Given the description of an element on the screen output the (x, y) to click on. 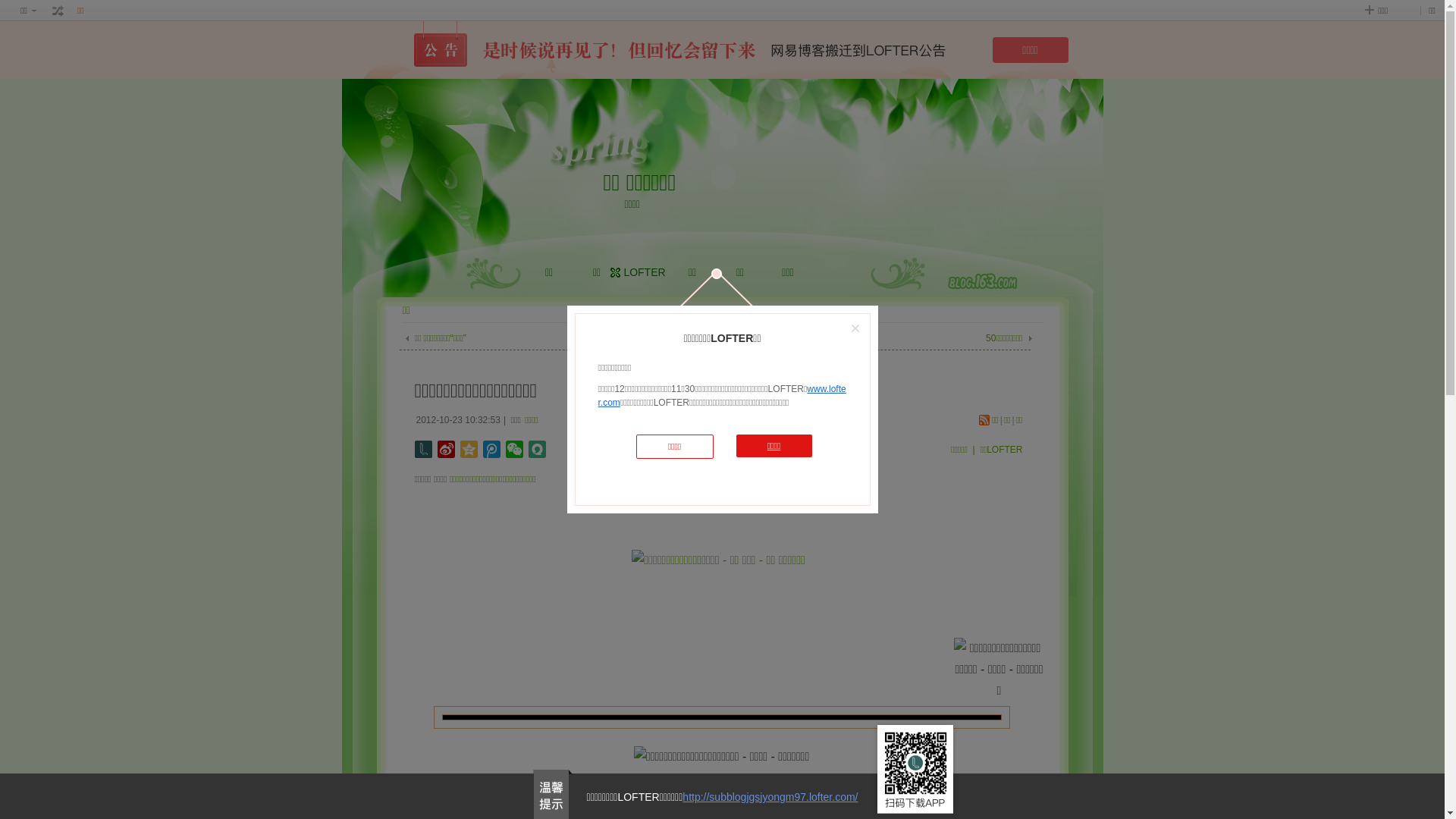
www.lofter.com Element type: text (721, 395)
http://subblogjgsjyongm97.lofter.com/ Element type: text (769, 796)
LOFTER Element type: text (644, 271)
  Element type: text (58, 10)
